Given the description of an element on the screen output the (x, y) to click on. 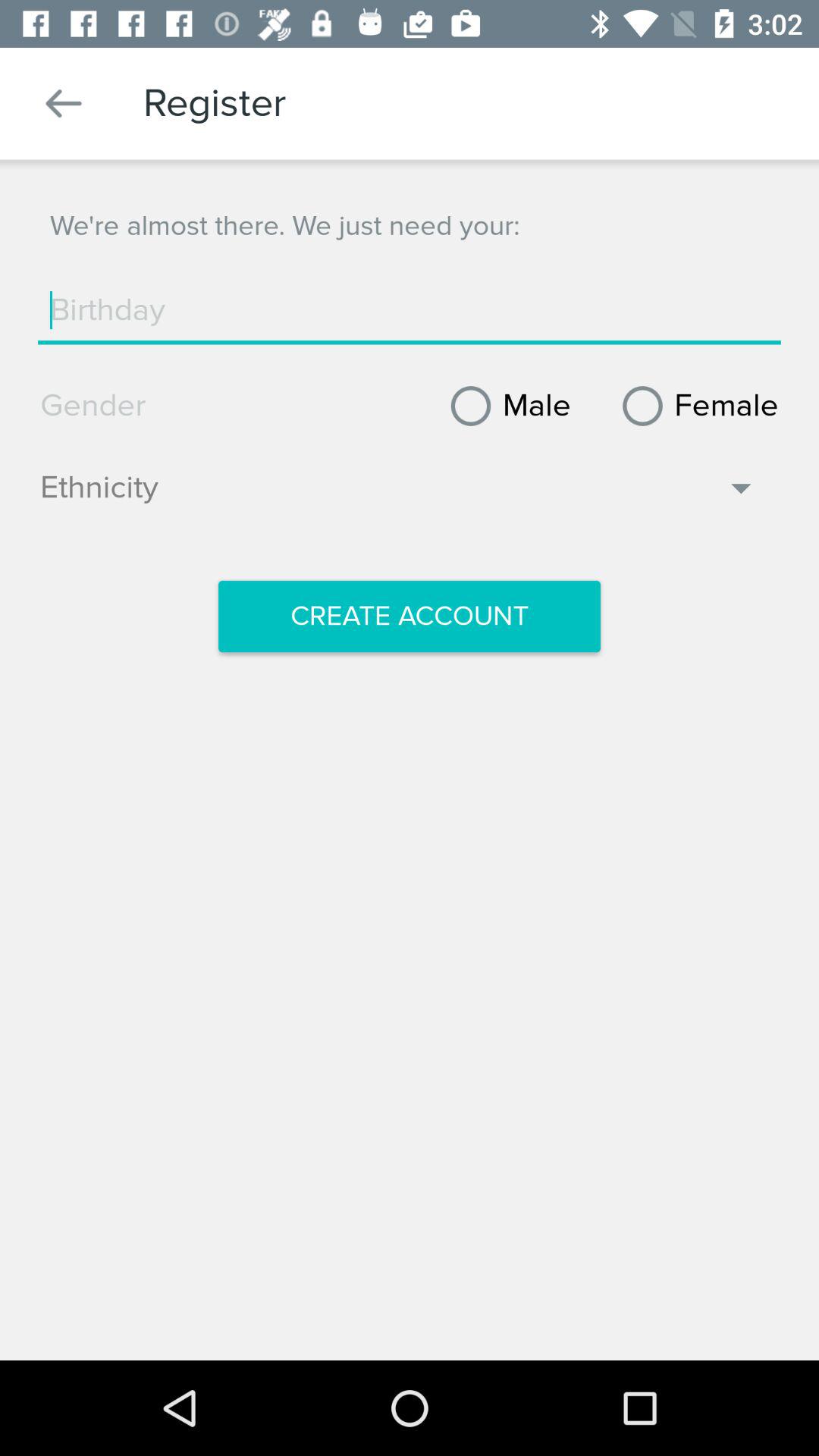
click item above the we re almost icon (63, 103)
